Given the description of an element on the screen output the (x, y) to click on. 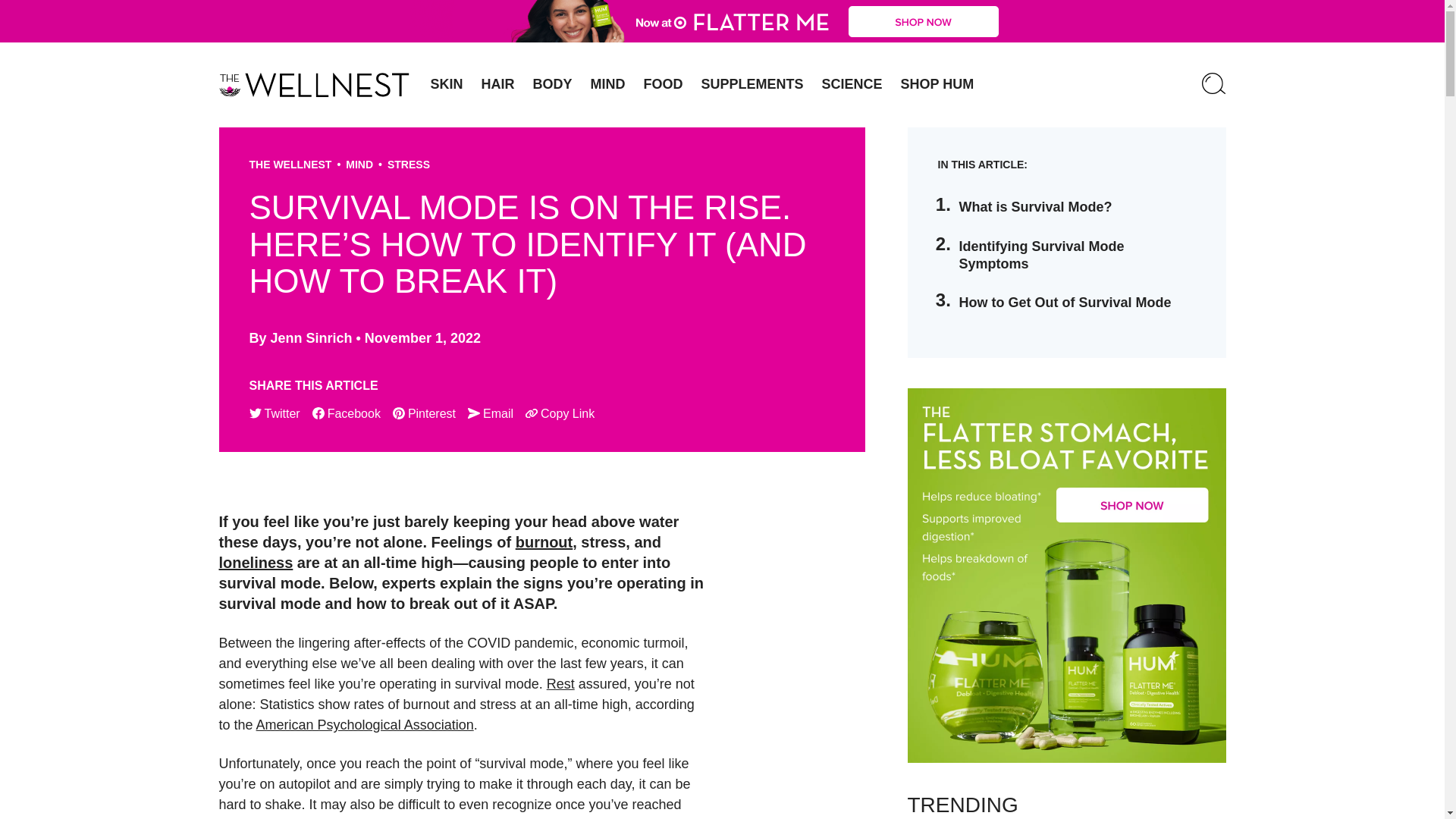
FOOD (663, 84)
SCIENCE (851, 84)
Twitter (273, 414)
MIND (607, 84)
STRESS (408, 164)
BODY (552, 84)
SUPPLEMENTS (752, 84)
HAIR (497, 84)
HUM Nutrition Blog (313, 84)
SHOP HUM (937, 84)
